Given the description of an element on the screen output the (x, y) to click on. 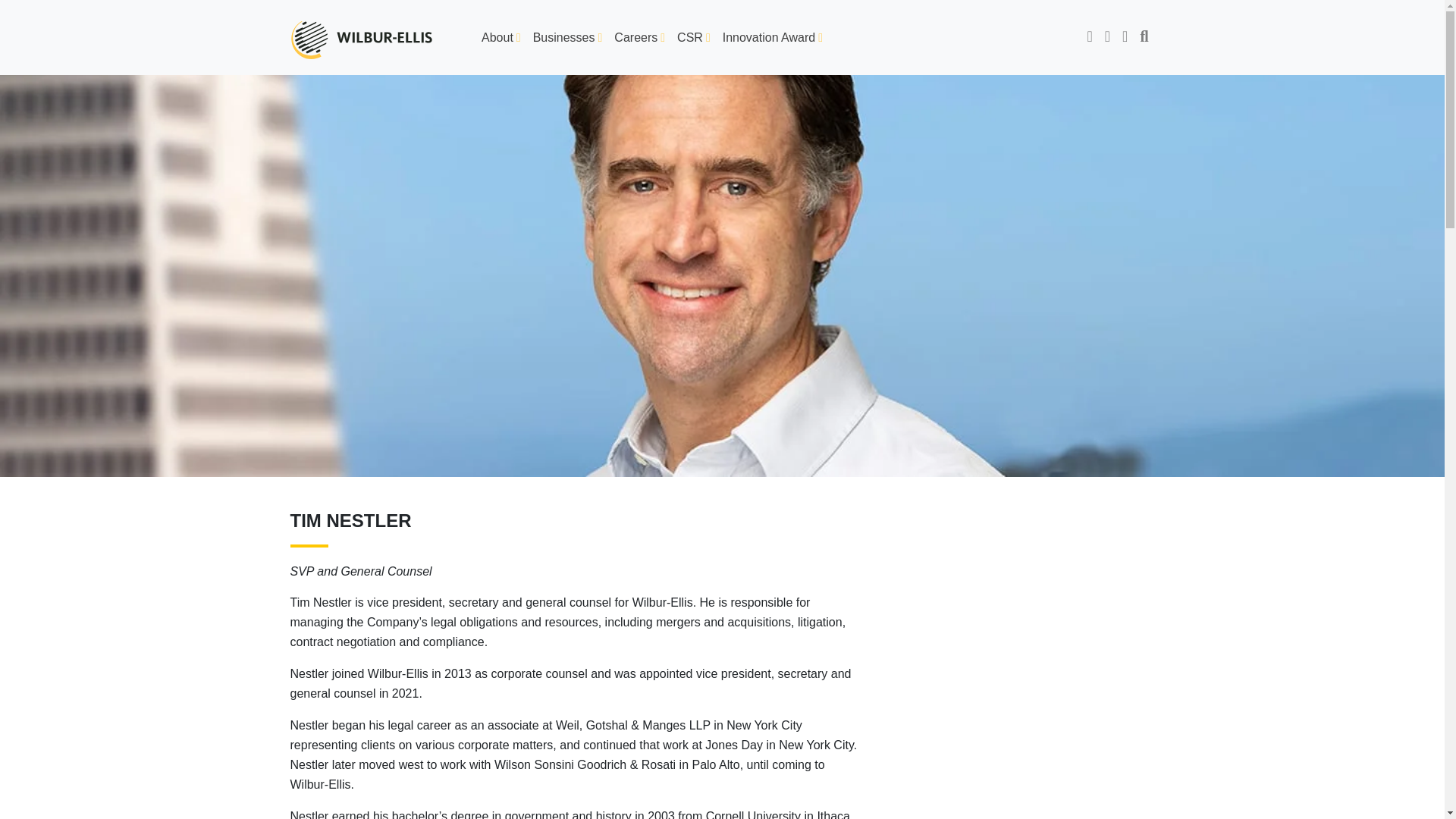
Careers (639, 37)
Innovation Award (772, 37)
About (501, 37)
Careers (639, 37)
About (501, 37)
CSR (693, 37)
Businesses (567, 37)
Businesses (567, 37)
